Given the description of an element on the screen output the (x, y) to click on. 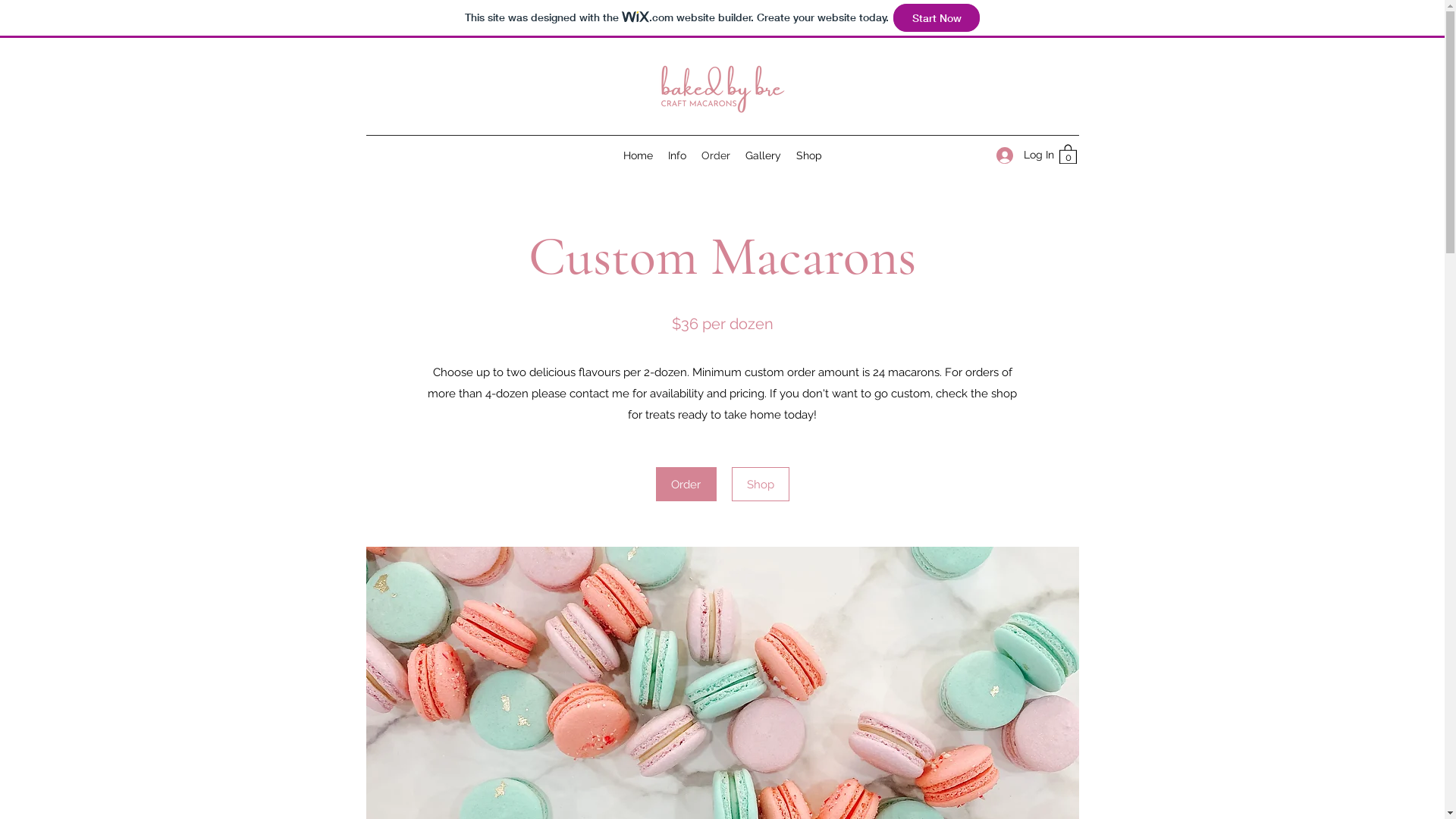
Shop Element type: text (808, 155)
Gallery Element type: text (762, 155)
Home Element type: text (637, 155)
Order Element type: text (685, 484)
Order Element type: text (715, 155)
Log In Element type: text (1019, 155)
Shop Element type: text (759, 484)
0 Element type: text (1067, 153)
Info Element type: text (676, 155)
